Given the description of an element on the screen output the (x, y) to click on. 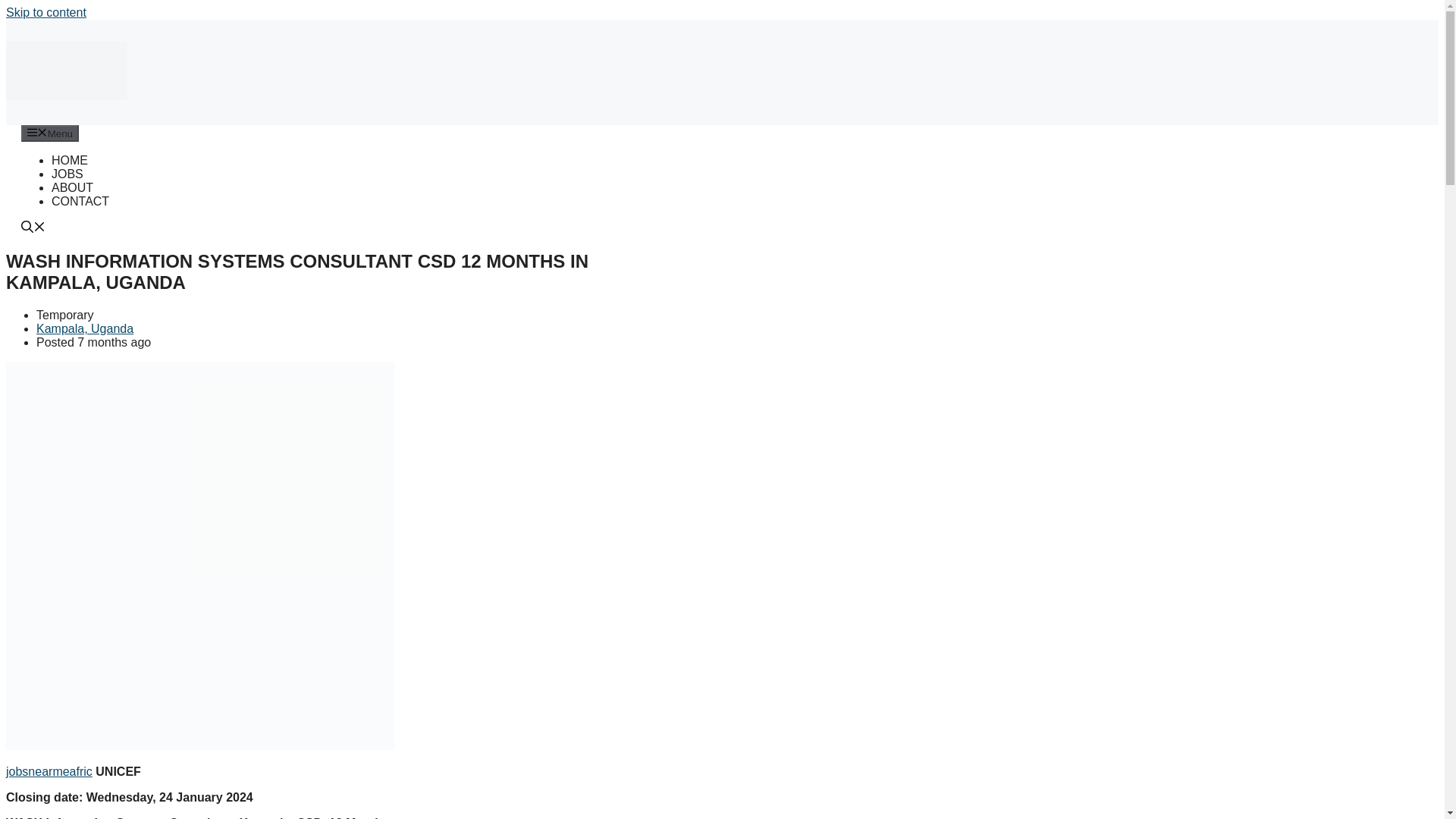
CONTACT (79, 201)
Kampala, Uganda (84, 328)
Skip to content (45, 11)
Menu (49, 133)
HOME (68, 160)
ABOUT (71, 187)
Skip to content (45, 11)
JOBS (66, 173)
jobsnearmeafric (49, 771)
